Given the description of an element on the screen output the (x, y) to click on. 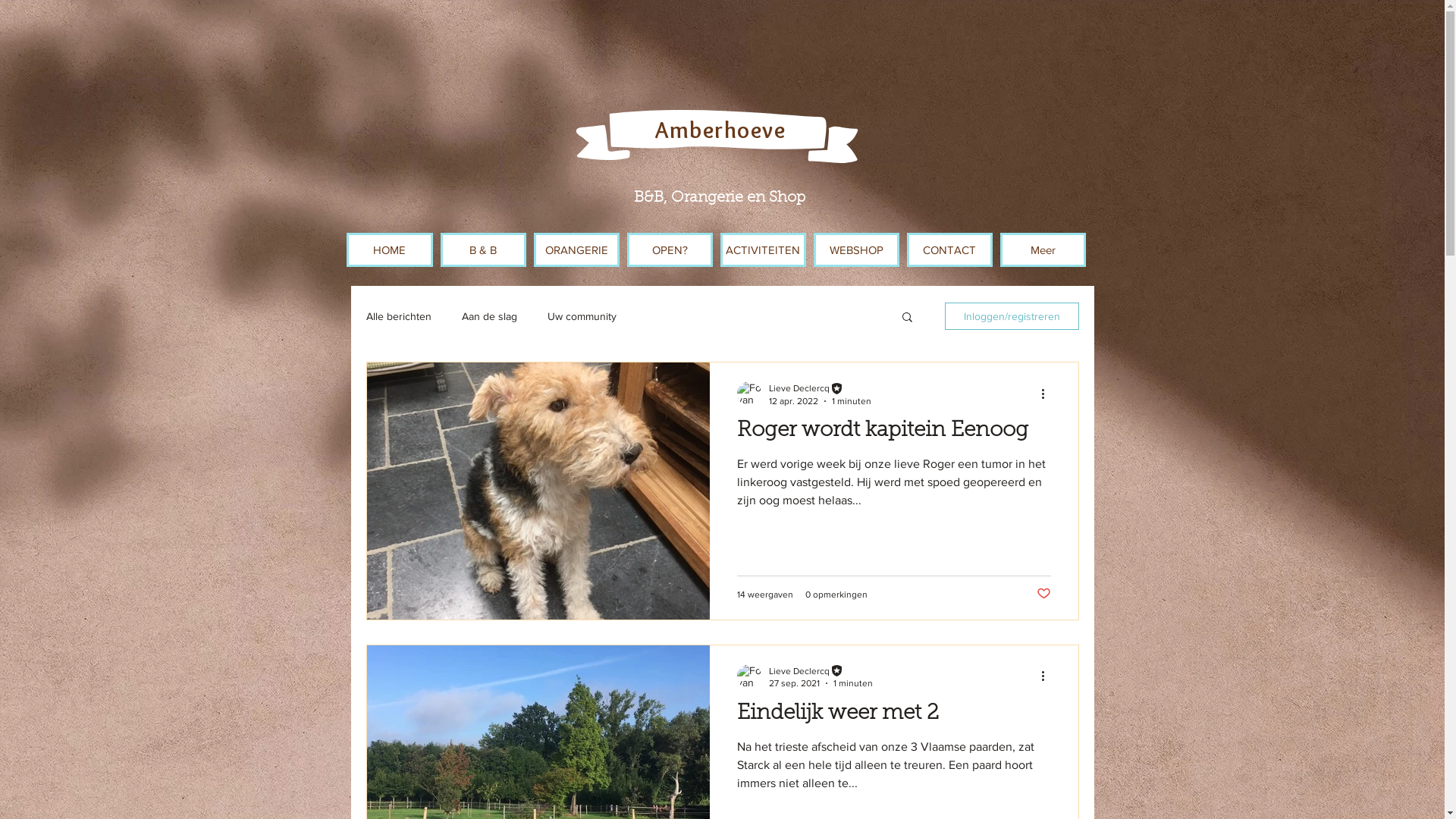
Uw community Element type: text (581, 316)
WEBSHOP Element type: text (855, 249)
Amberhoeve Element type: text (720, 130)
0 opmerkingen Element type: text (836, 593)
CONTACT Element type: text (949, 249)
Inloggen/registreren Element type: text (1011, 315)
Alle berichten Element type: text (397, 316)
ORANGERIE Element type: text (576, 249)
Roger wordt kapitein Eenoog Element type: text (894, 435)
ACTIVITEITEN Element type: text (763, 249)
Post is niet als leuk gemarkeerd Element type: text (1042, 594)
HOME Element type: text (388, 249)
OPEN? Element type: text (669, 249)
Aan de slag Element type: text (488, 316)
B & B Element type: text (482, 249)
Eindelijk weer met 2 Element type: text (894, 717)
